Given the description of an element on the screen output the (x, y) to click on. 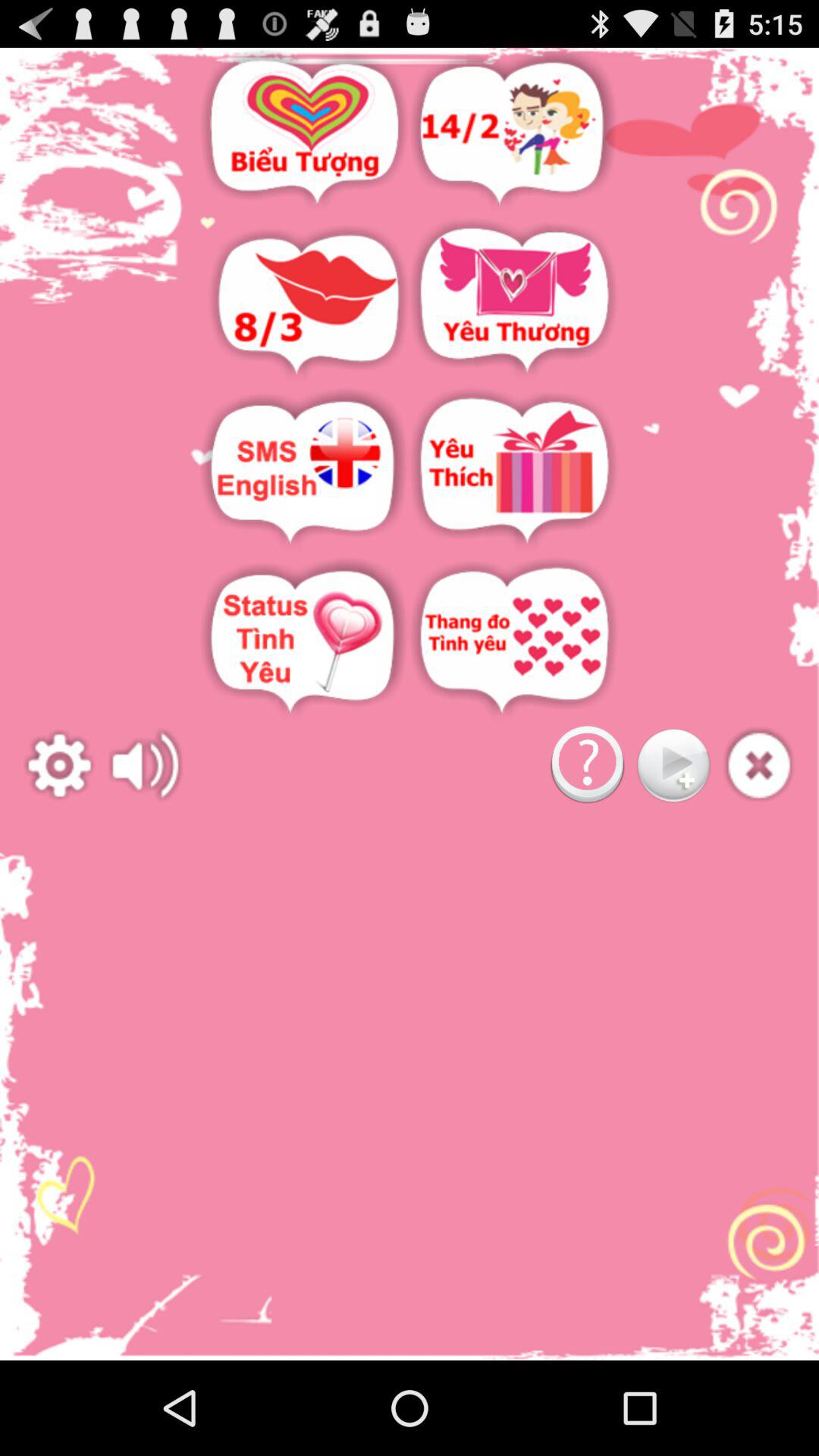
open gift list menu (513, 471)
